Given the description of an element on the screen output the (x, y) to click on. 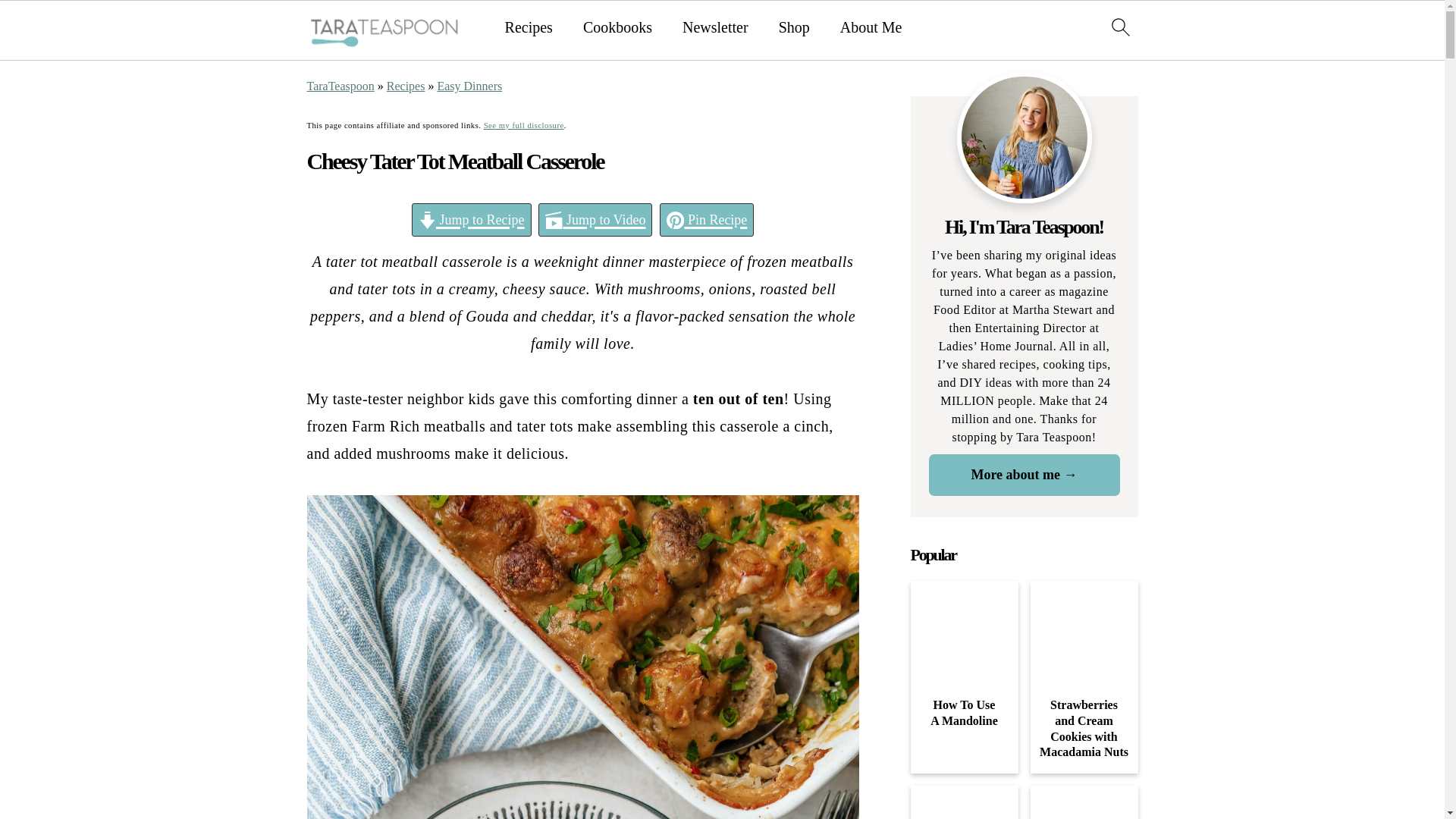
Newsletter (715, 27)
Recipes (406, 85)
TaraTeaspoon (339, 85)
About Me (871, 27)
search icon (1119, 26)
Jump to Recipe (471, 219)
Pin Recipe (706, 219)
Recipes (529, 27)
Easy Dinners (469, 85)
Cookbooks (617, 27)
